Given the description of an element on the screen output the (x, y) to click on. 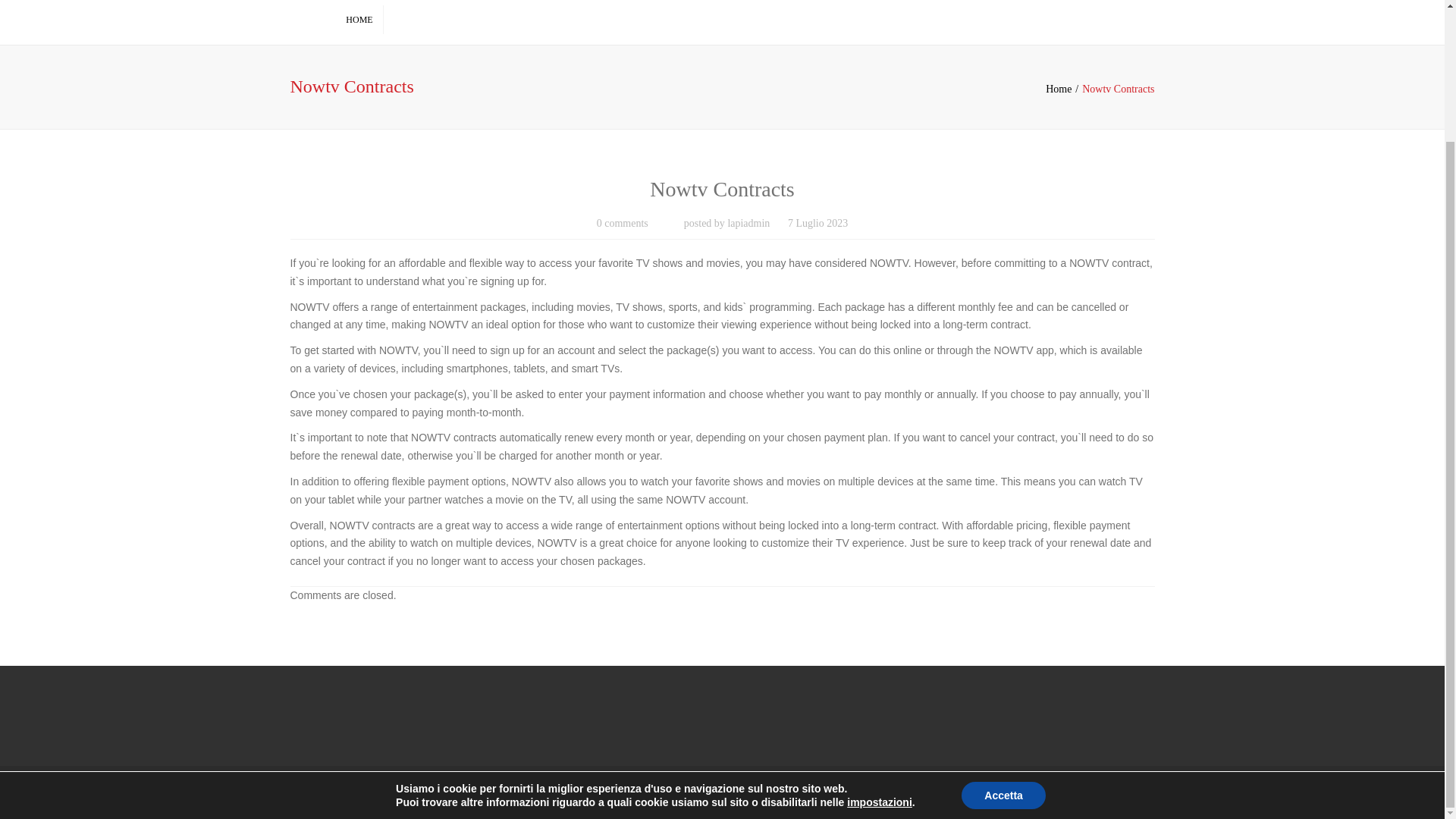
Tesene (1091, 792)
lapiadmin (748, 223)
Accetta (1002, 635)
Informativa sulla Privacy (948, 792)
Home (1063, 89)
0 comments (621, 223)
